Given the description of an element on the screen output the (x, y) to click on. 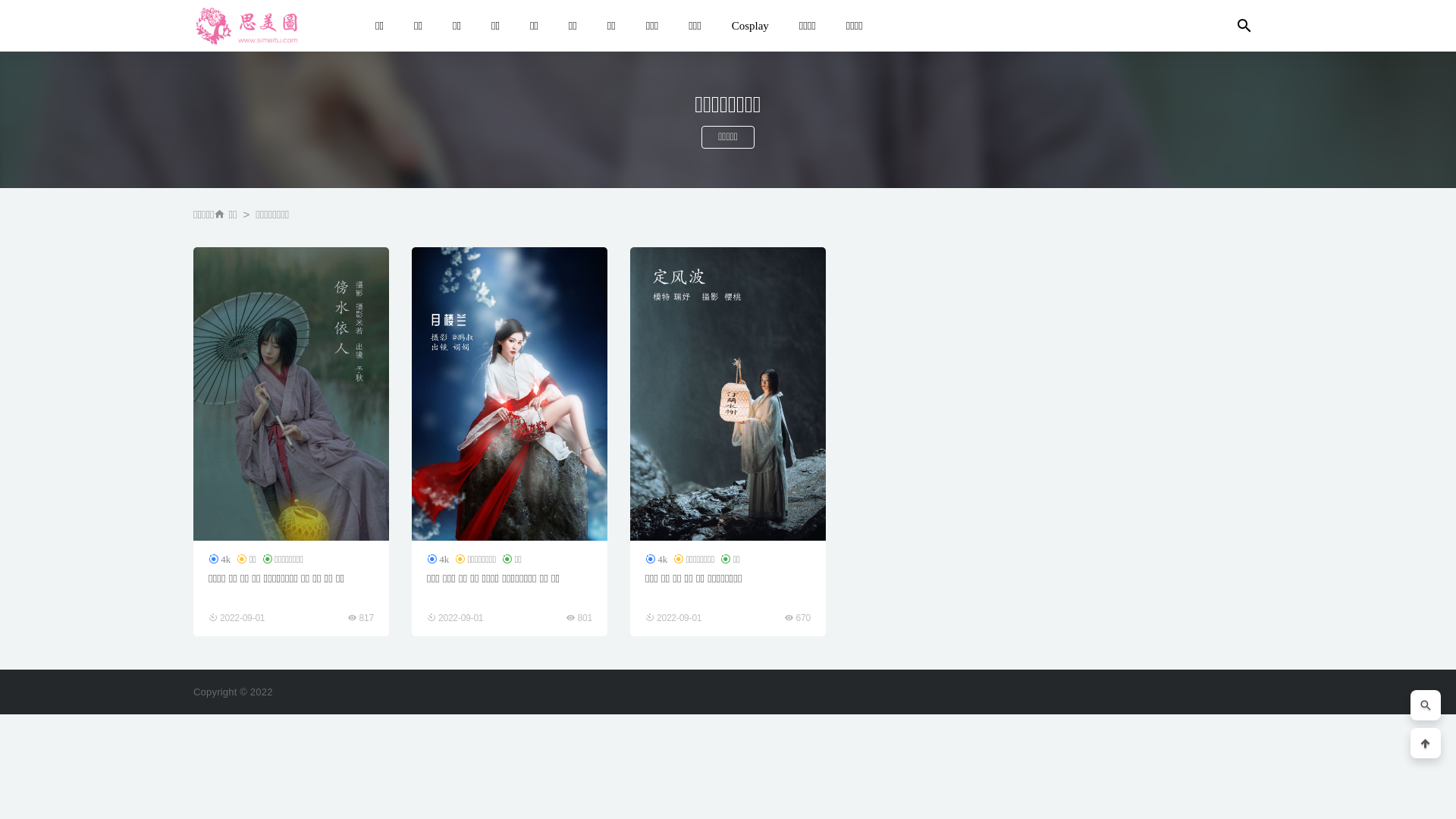
4k Element type: text (656, 558)
4k Element type: text (219, 558)
Cosplay Element type: text (750, 25)
4k Element type: text (437, 558)
